Given the description of an element on the screen output the (x, y) to click on. 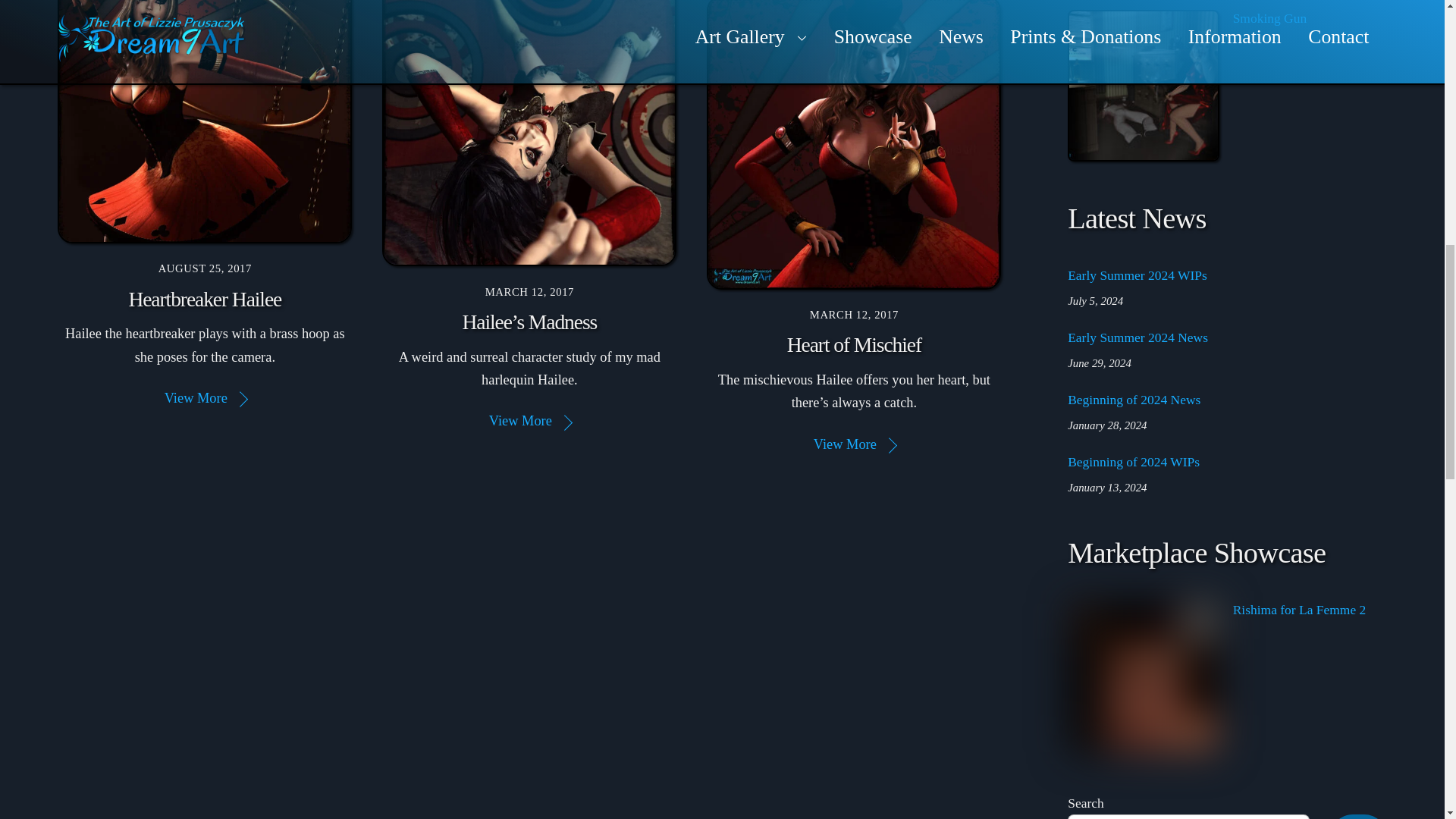
Smoking Gun (1143, 85)
Heart of Mischief (854, 344)
D9S Rishima for La Femme 2 (1143, 676)
View More (854, 444)
View More (529, 420)
Heartbreaker Hailee (205, 121)
Heartbreaker Hailee (204, 299)
Hailee's Madness (529, 133)
View More (205, 397)
Heart of Mischief (853, 144)
